Given the description of an element on the screen output the (x, y) to click on. 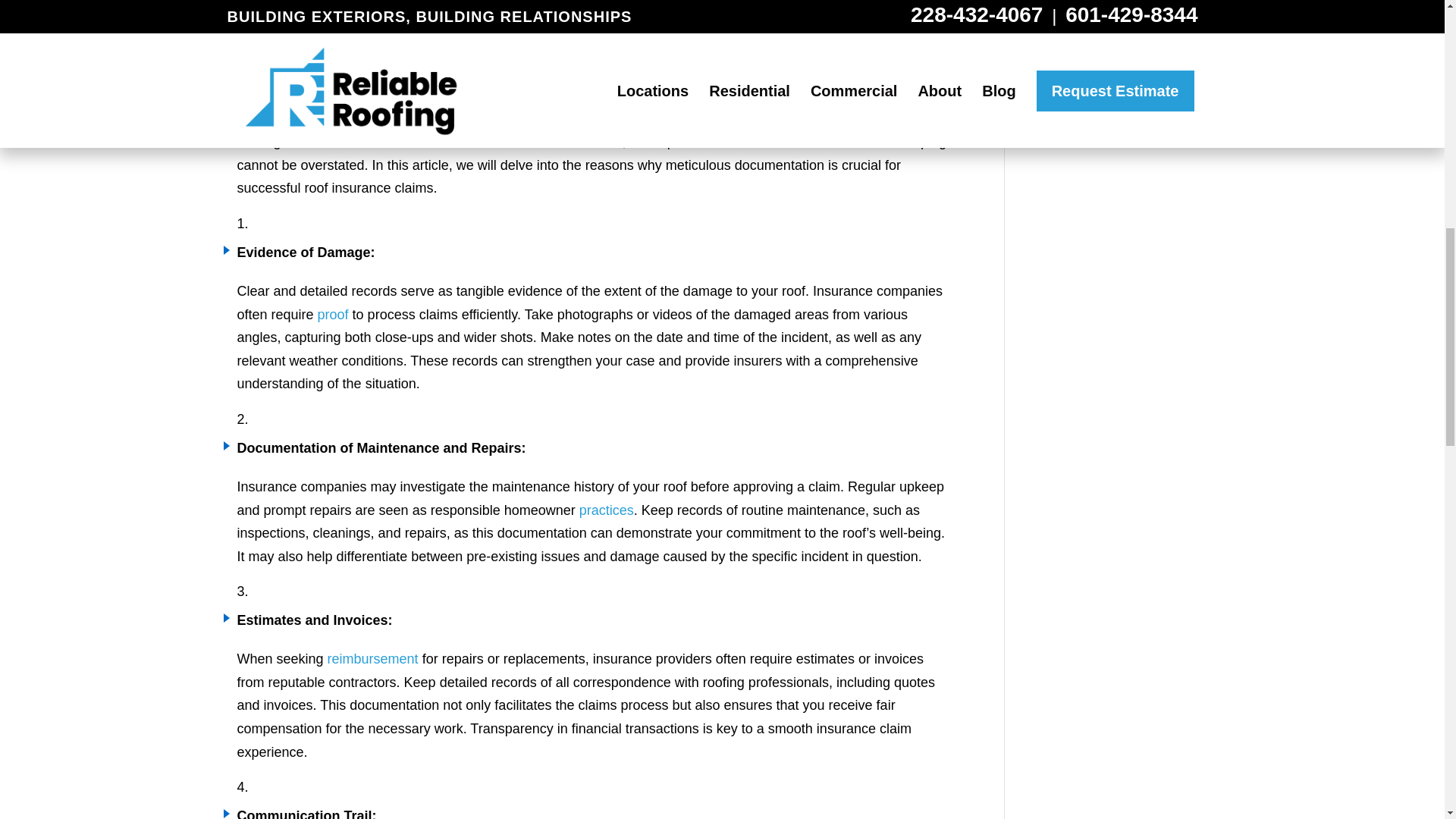
reimbursement (373, 658)
practices (606, 509)
damage (851, 118)
insurance (433, 141)
proof (333, 314)
